Given the description of an element on the screen output the (x, y) to click on. 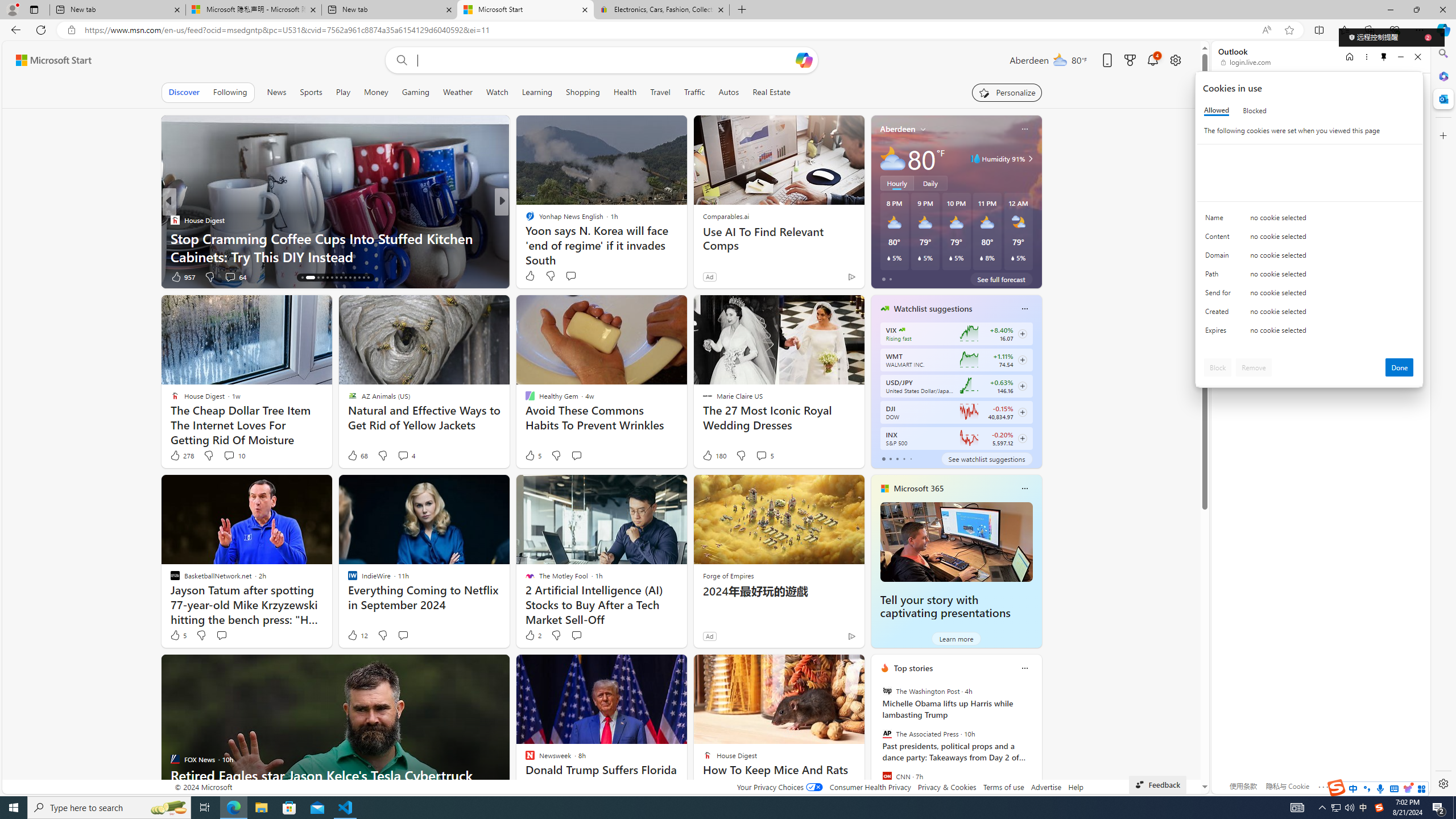
View comments 37 Comment (576, 276)
19 Like (530, 276)
261 Like (532, 276)
